Given the description of an element on the screen output the (x, y) to click on. 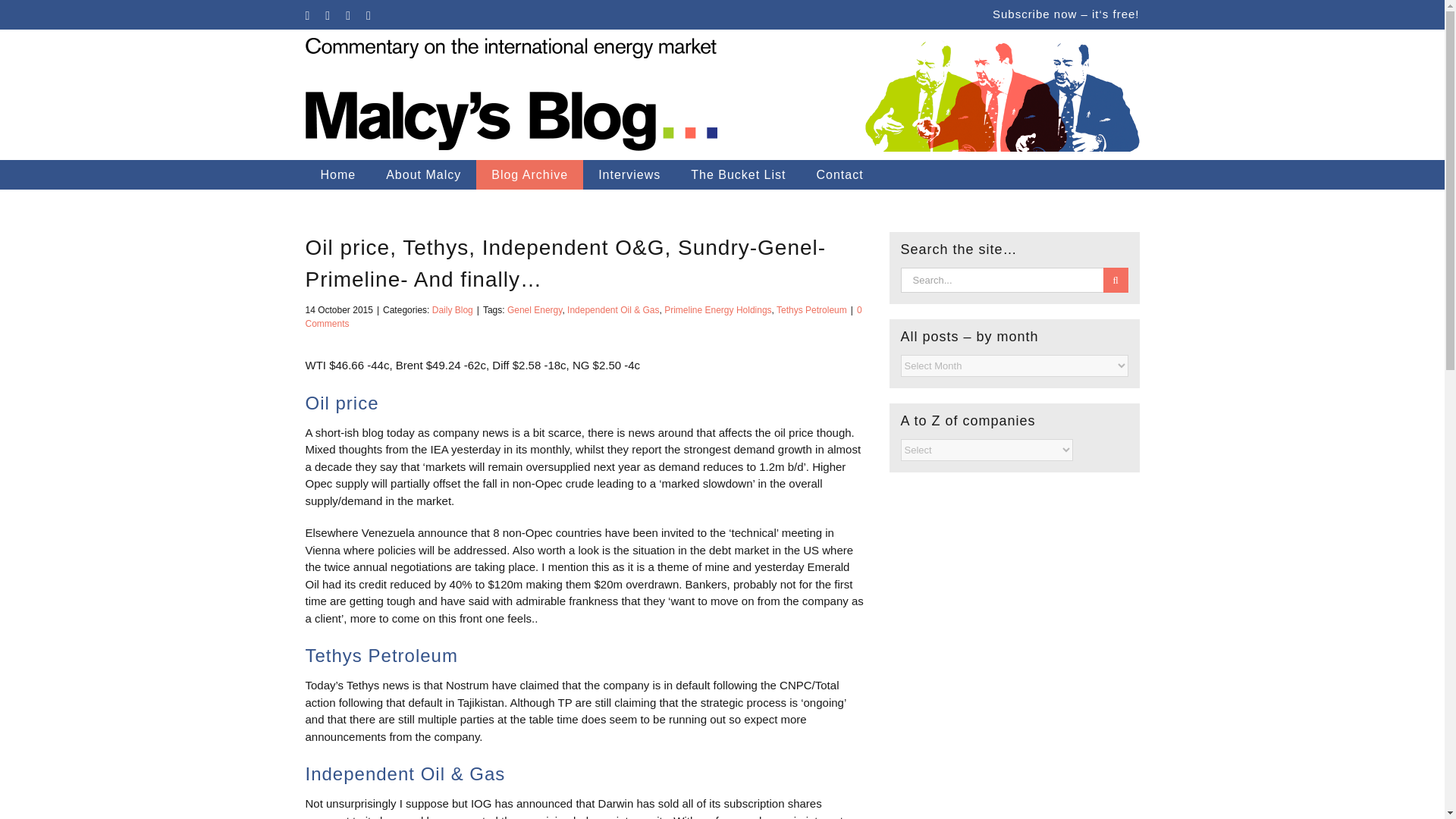
0 Comments (582, 316)
Contact (838, 174)
Interviews (629, 174)
Blog Archive (529, 174)
About Malcy (423, 174)
Daily Blog (452, 309)
Genel Energy (534, 309)
Tethys Petroleum (811, 309)
Primeline Energy Holdings (717, 309)
Home (337, 174)
The Bucket List (737, 174)
